Given the description of an element on the screen output the (x, y) to click on. 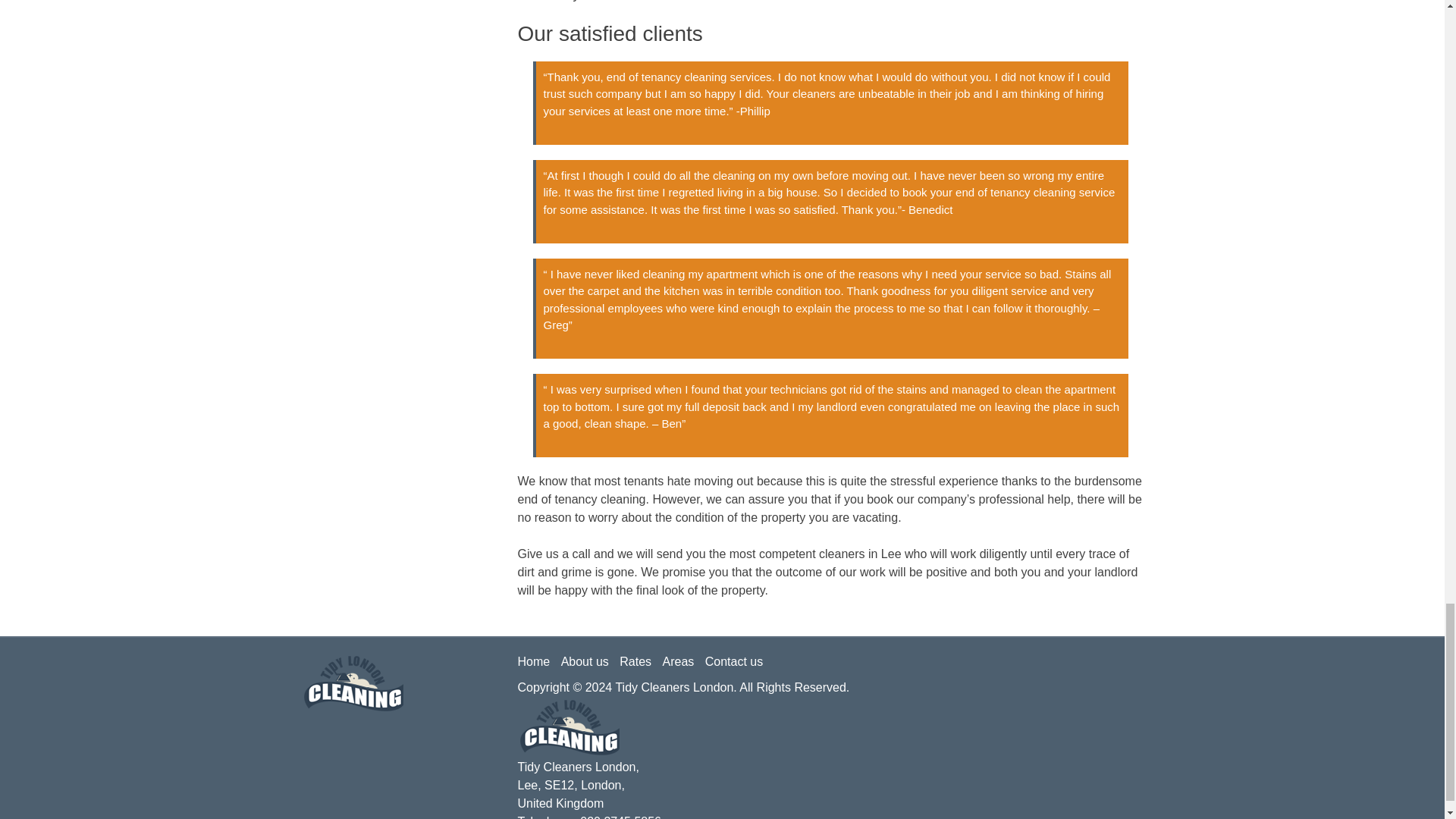
Tidy Cleaners London (673, 686)
Contact us (737, 661)
Areas (681, 661)
020 3745 5856 (620, 816)
Home (536, 661)
About us (587, 661)
Rates (639, 661)
